Given the description of an element on the screen output the (x, y) to click on. 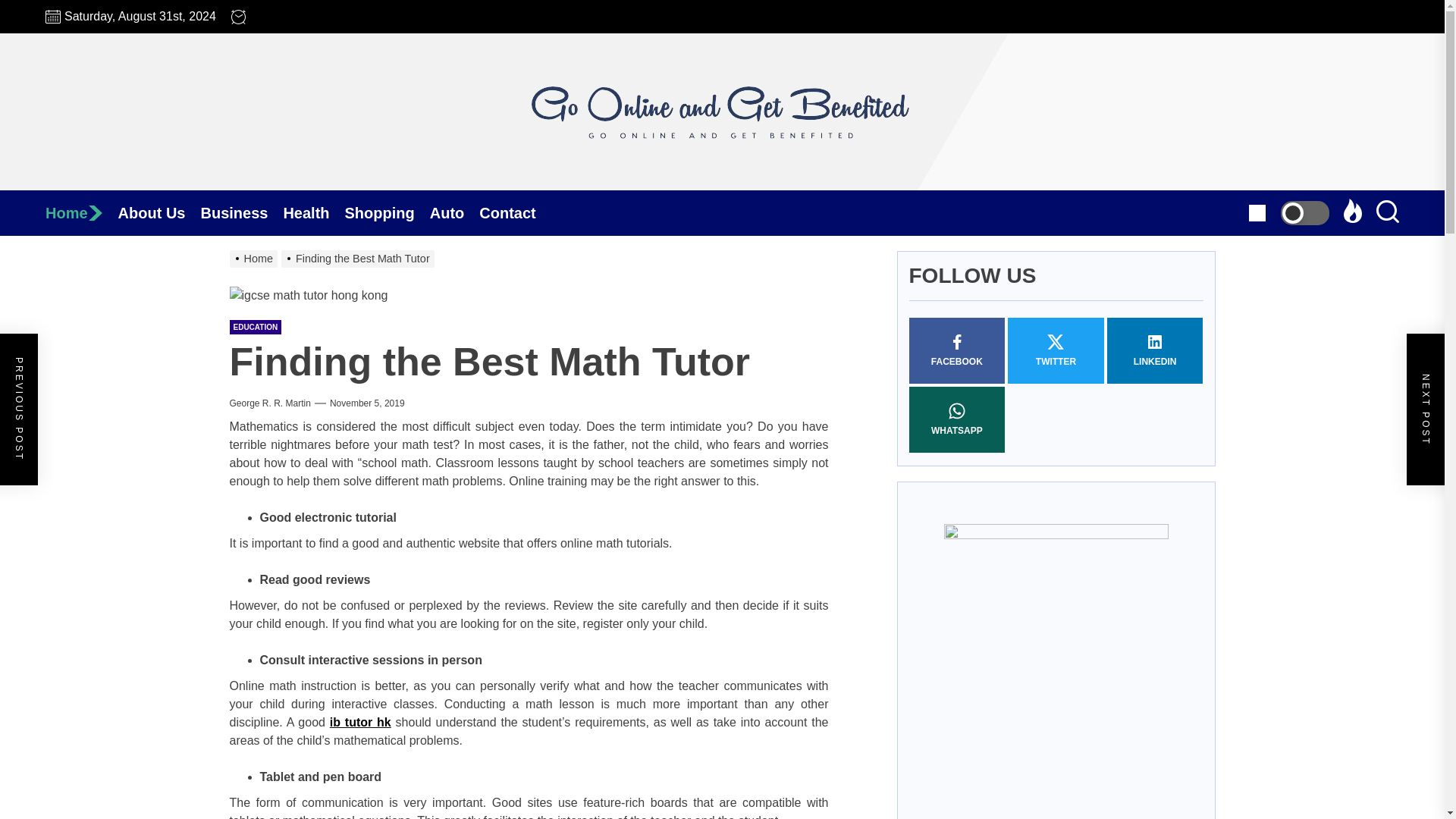
Auto (454, 212)
Business (241, 212)
Contact (514, 212)
Shopping (387, 212)
Home (81, 212)
Go Online and Get Benefited (721, 215)
About Us (158, 212)
Health (312, 212)
Home (81, 212)
